Given the description of an element on the screen output the (x, y) to click on. 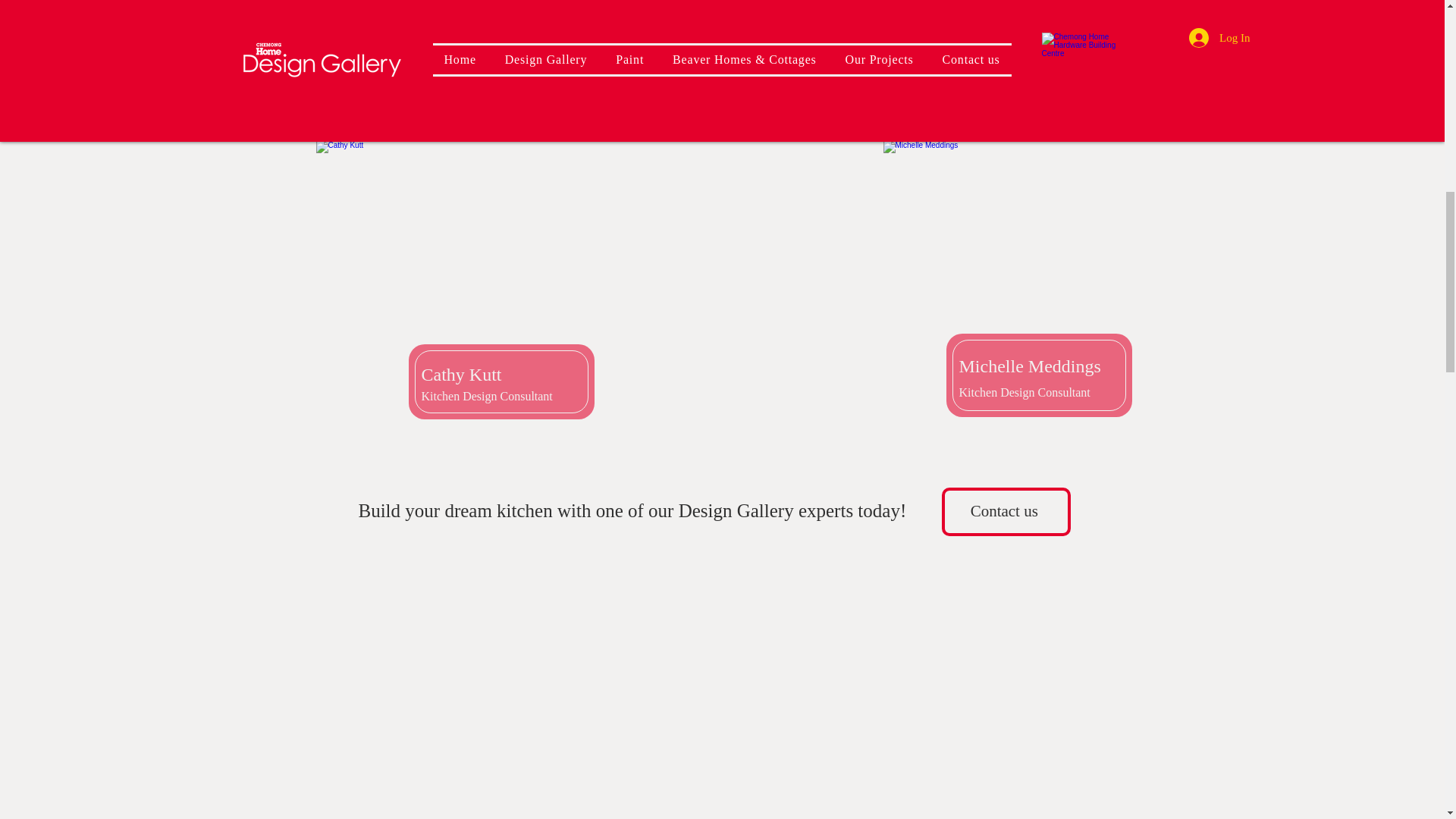
Michelle Meddings (1029, 365)
Contact us (1006, 511)
Cathy Kutt (462, 374)
